Given the description of an element on the screen output the (x, y) to click on. 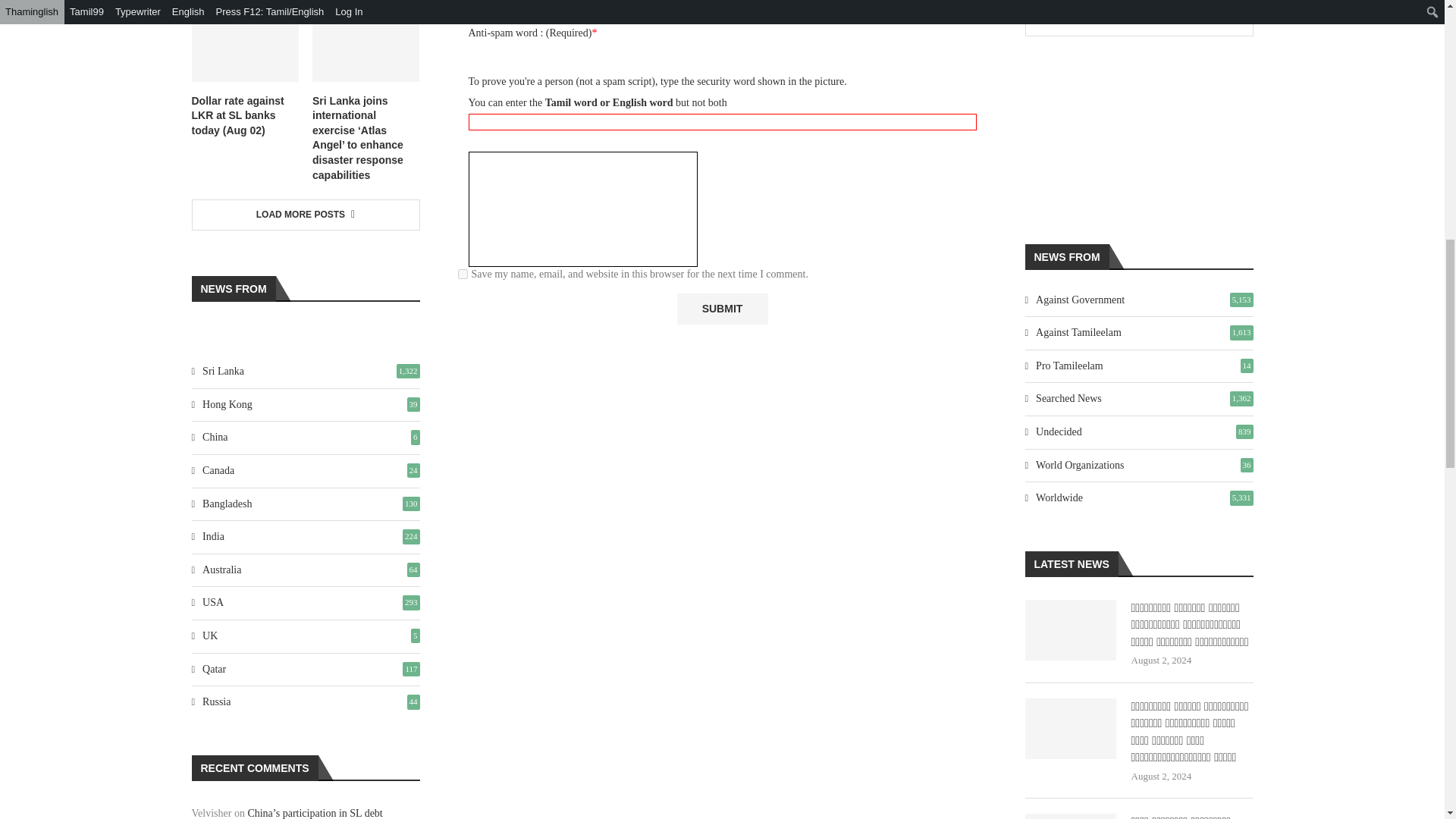
yes (462, 274)
Submit (722, 308)
Submit (722, 308)
